Given the description of an element on the screen output the (x, y) to click on. 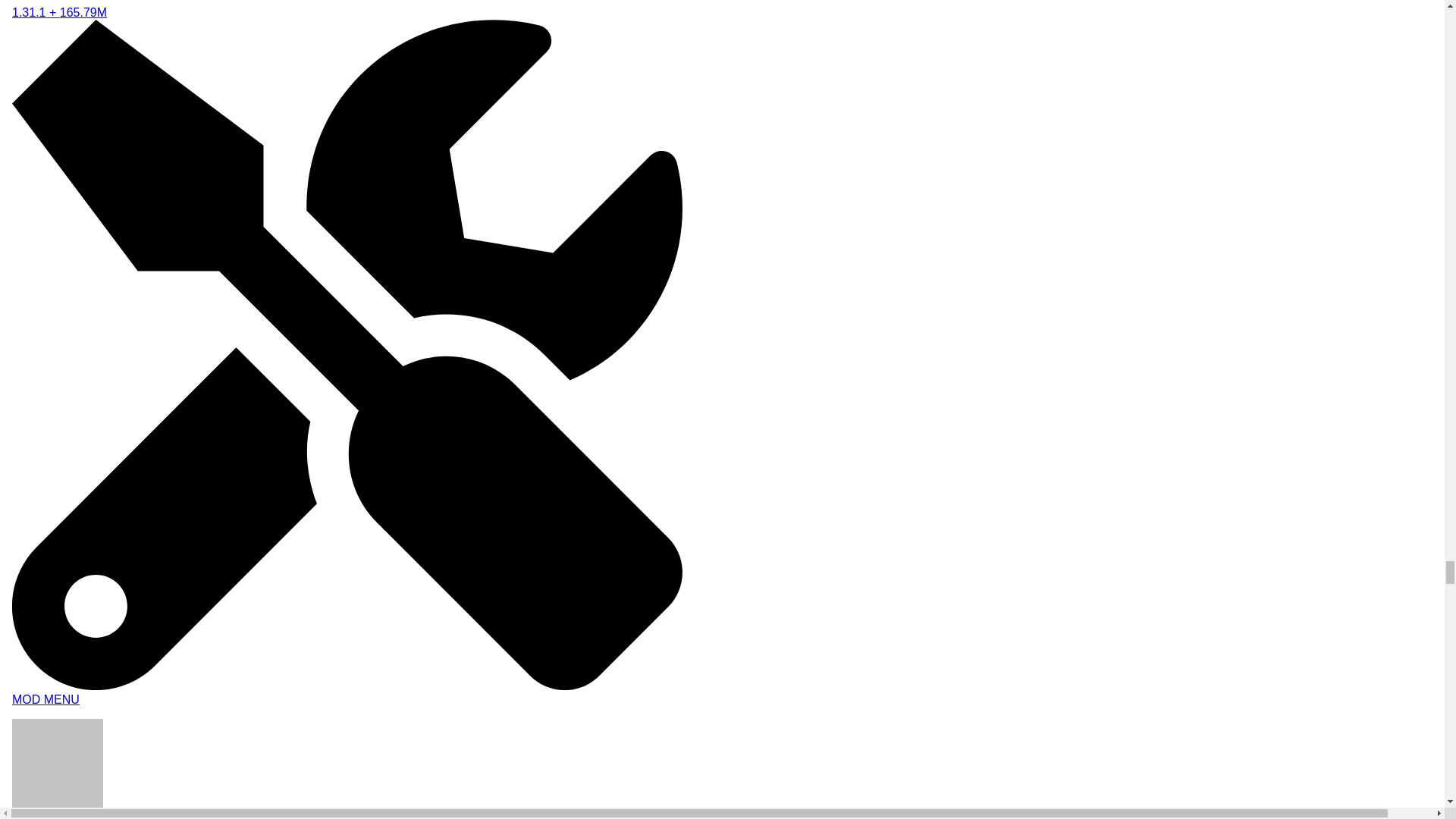
Stumble Guys (346, 765)
